Given the description of an element on the screen output the (x, y) to click on. 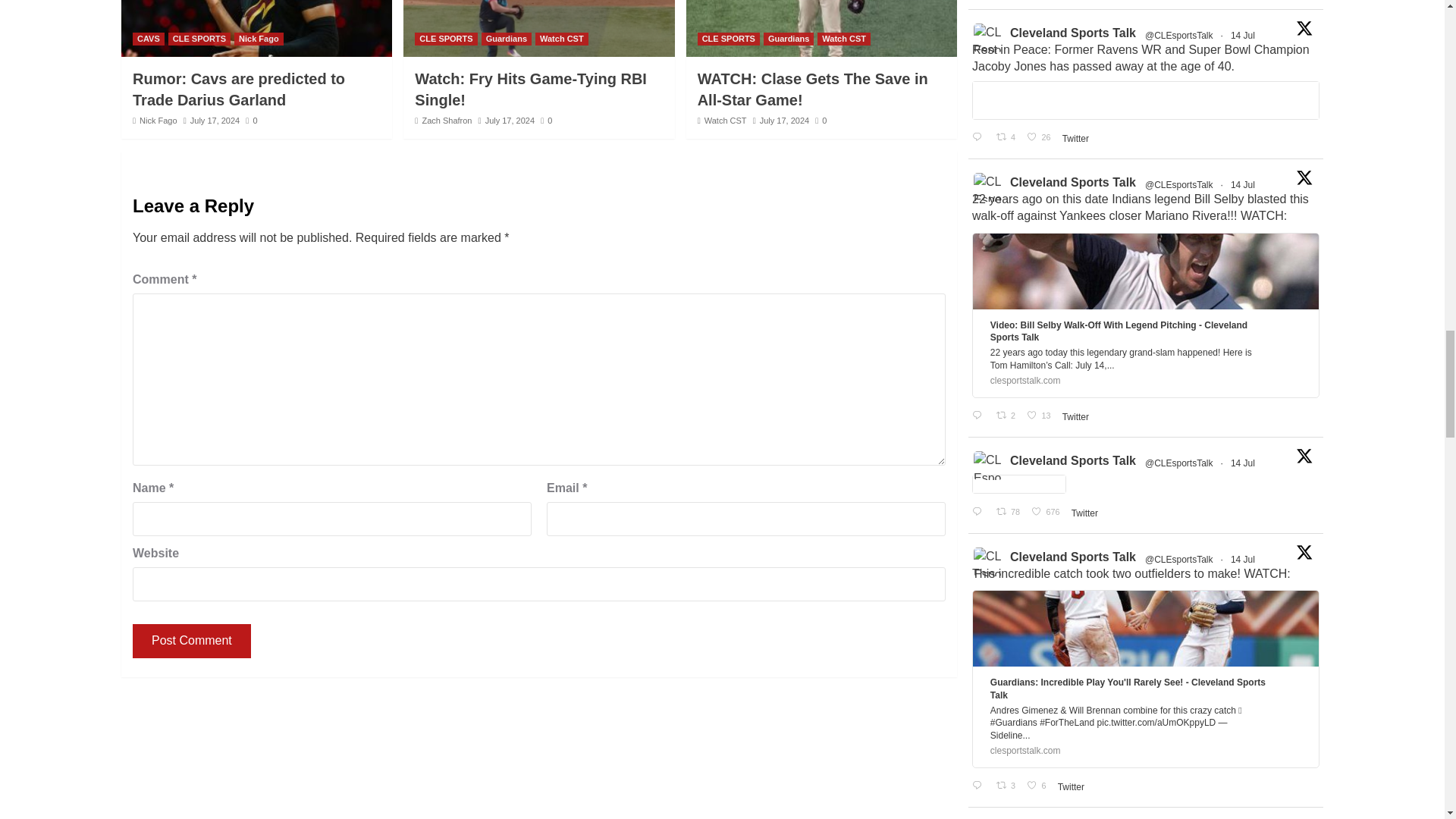
Rumor: Cavs are predicted to Trade Darius Garland (238, 89)
CAVS (148, 38)
Nick Fago (158, 120)
Post Comment (191, 641)
July 17, 2024 (215, 120)
0 (251, 120)
CLE SPORTS (199, 38)
Nick Fago (258, 38)
